Given the description of an element on the screen output the (x, y) to click on. 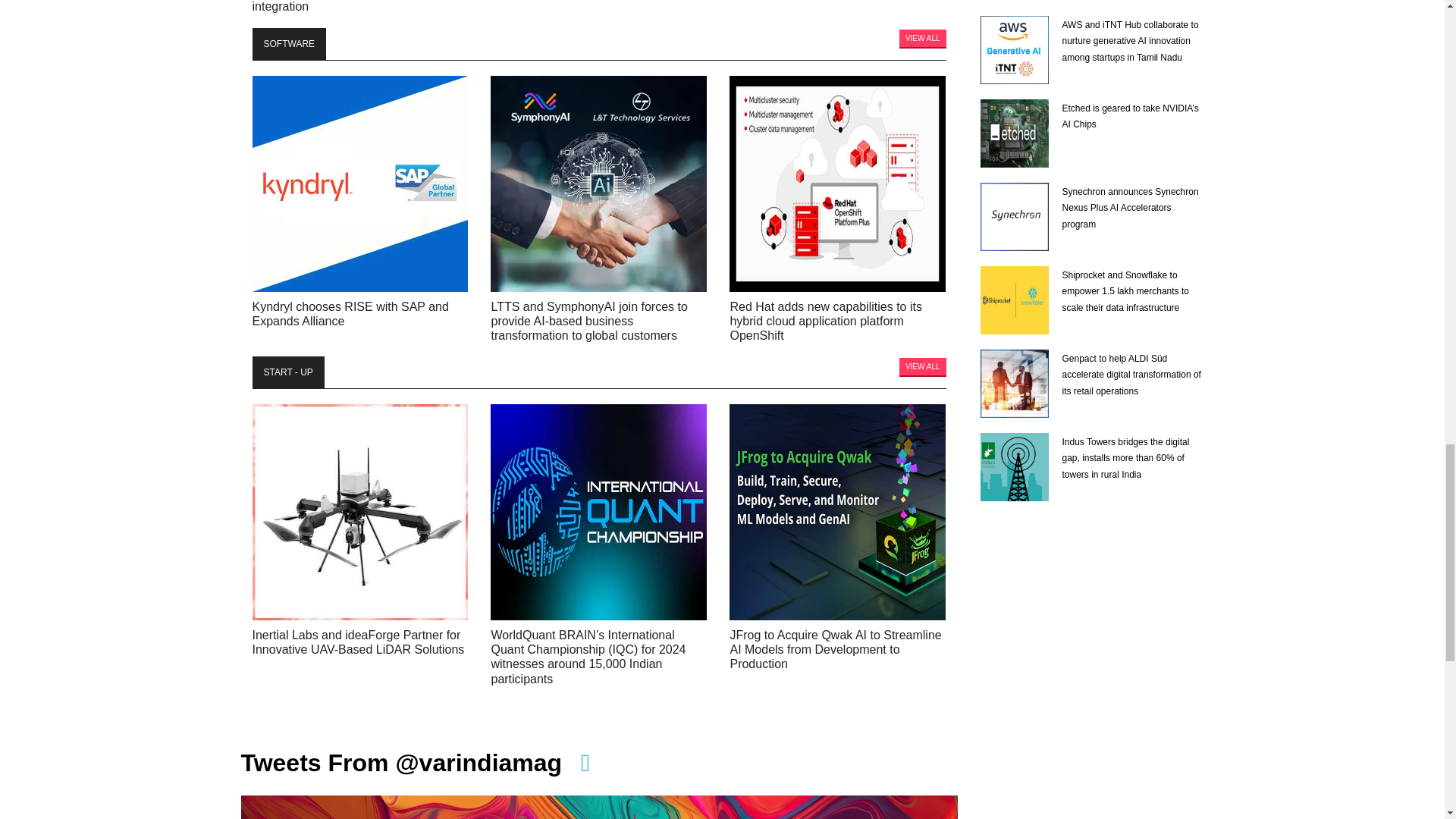
Kyndryl chooses RISE with SAP and Expands Alliance (359, 183)
